Given the description of an element on the screen output the (x, y) to click on. 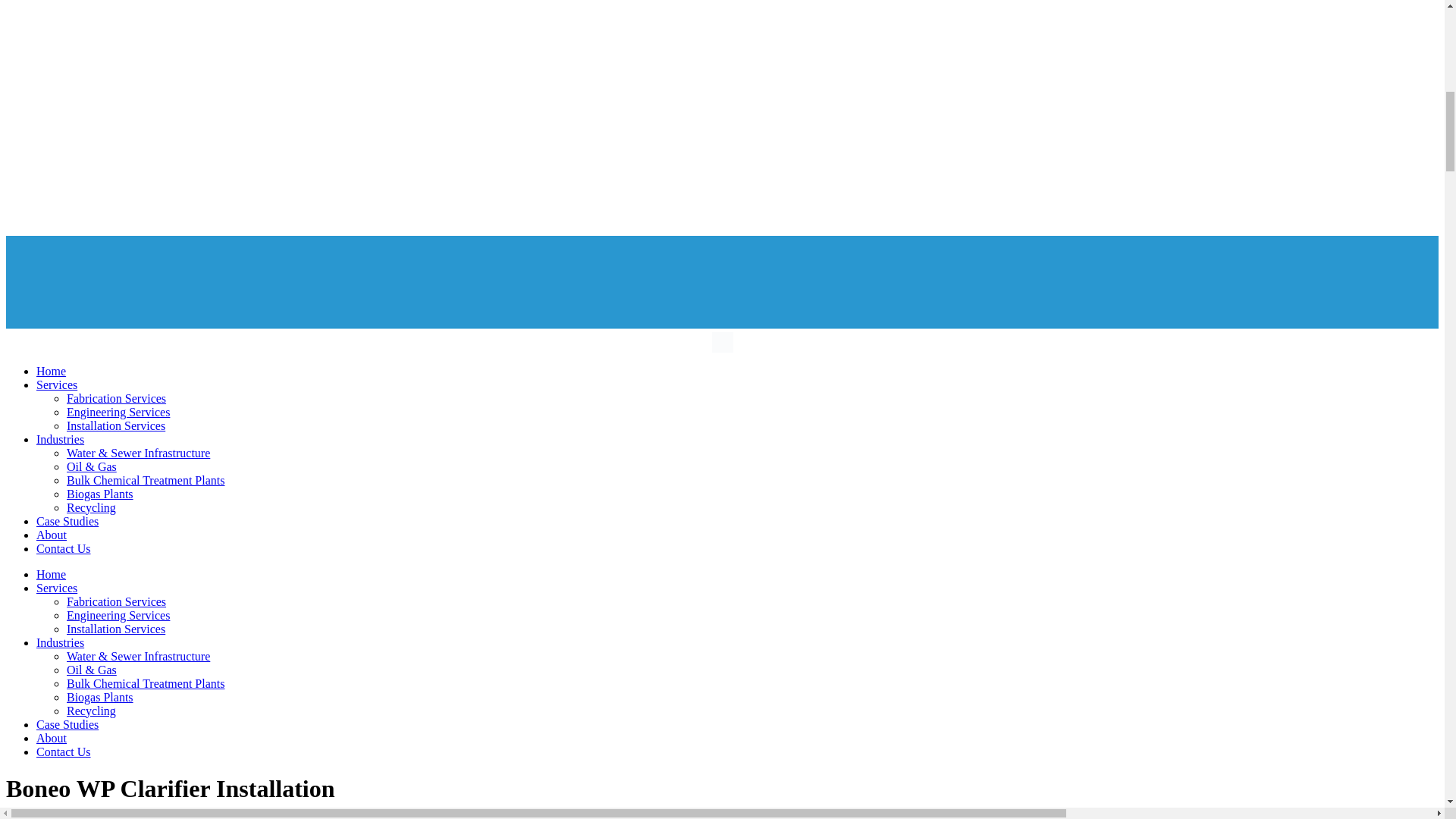
Contact Us (63, 751)
Bulk Chemical Treatment Plants (145, 683)
Contact Us (63, 548)
Fabrication Services (115, 601)
Services (56, 587)
Fabrication Services (115, 398)
Engineering Services (118, 615)
Case Studies (67, 724)
Recycling (91, 710)
About (51, 738)
About (51, 534)
Installation Services (115, 425)
Engineering Services (118, 411)
Services (56, 384)
Home (50, 574)
